Given the description of an element on the screen output the (x, y) to click on. 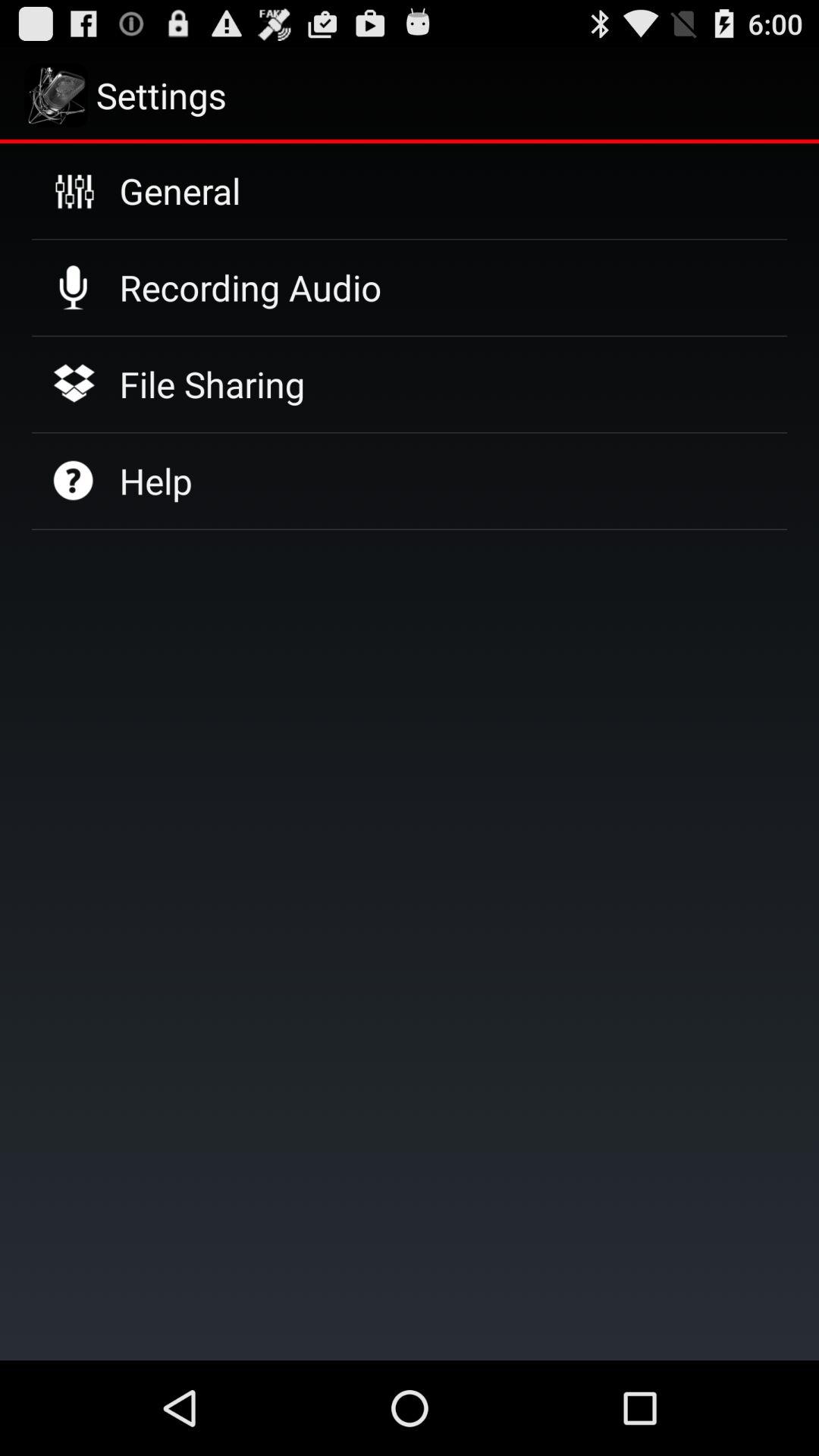
select recording audio icon (250, 287)
